Given the description of an element on the screen output the (x, y) to click on. 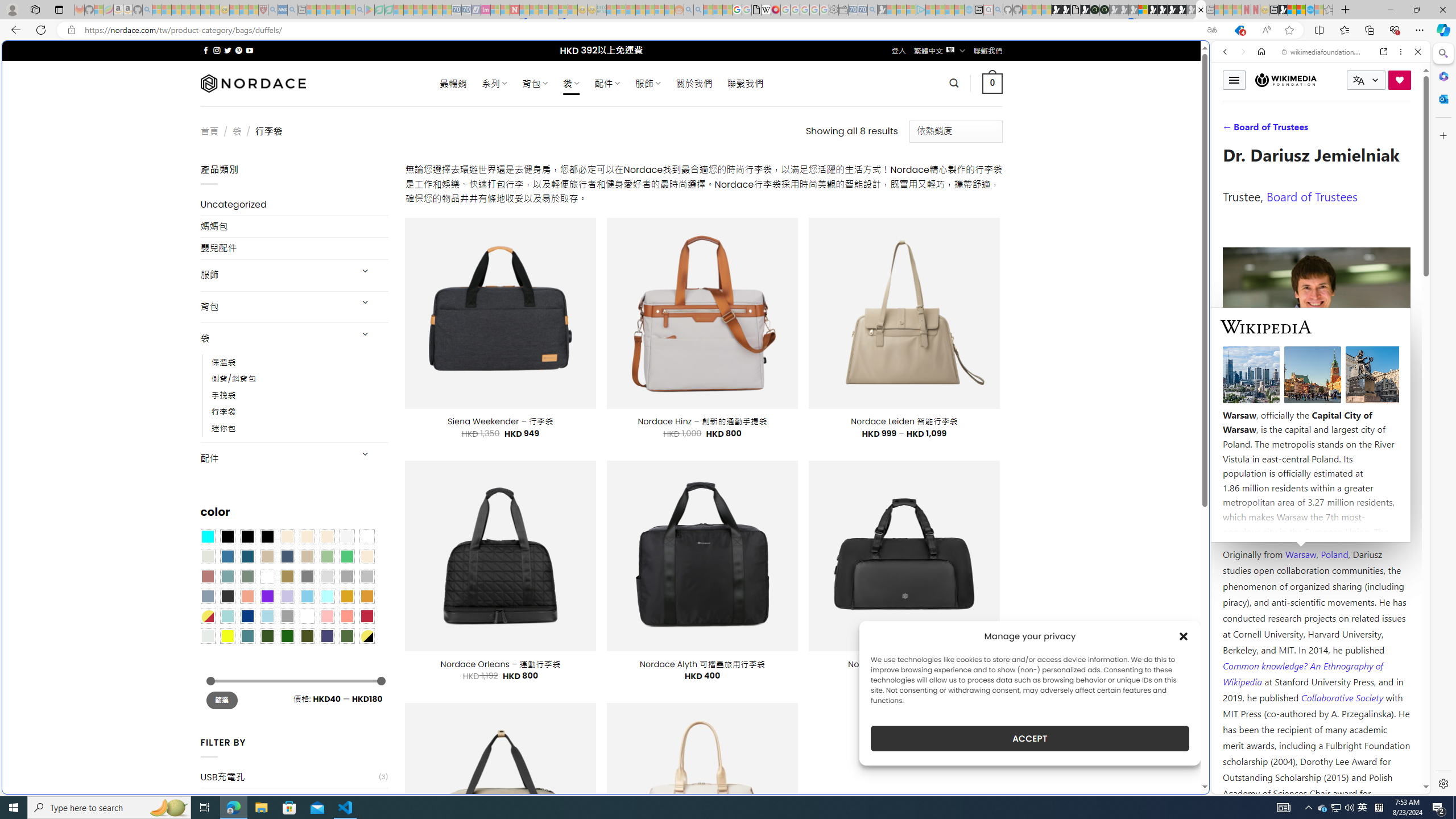
ACCEPT (1029, 738)
This site has coupons! Shopping in Microsoft Edge, 4 (1239, 29)
Services - Maintenance | Sky Blue Bikes - Sky Blue Bikes (1309, 9)
